Given the description of an element on the screen output the (x, y) to click on. 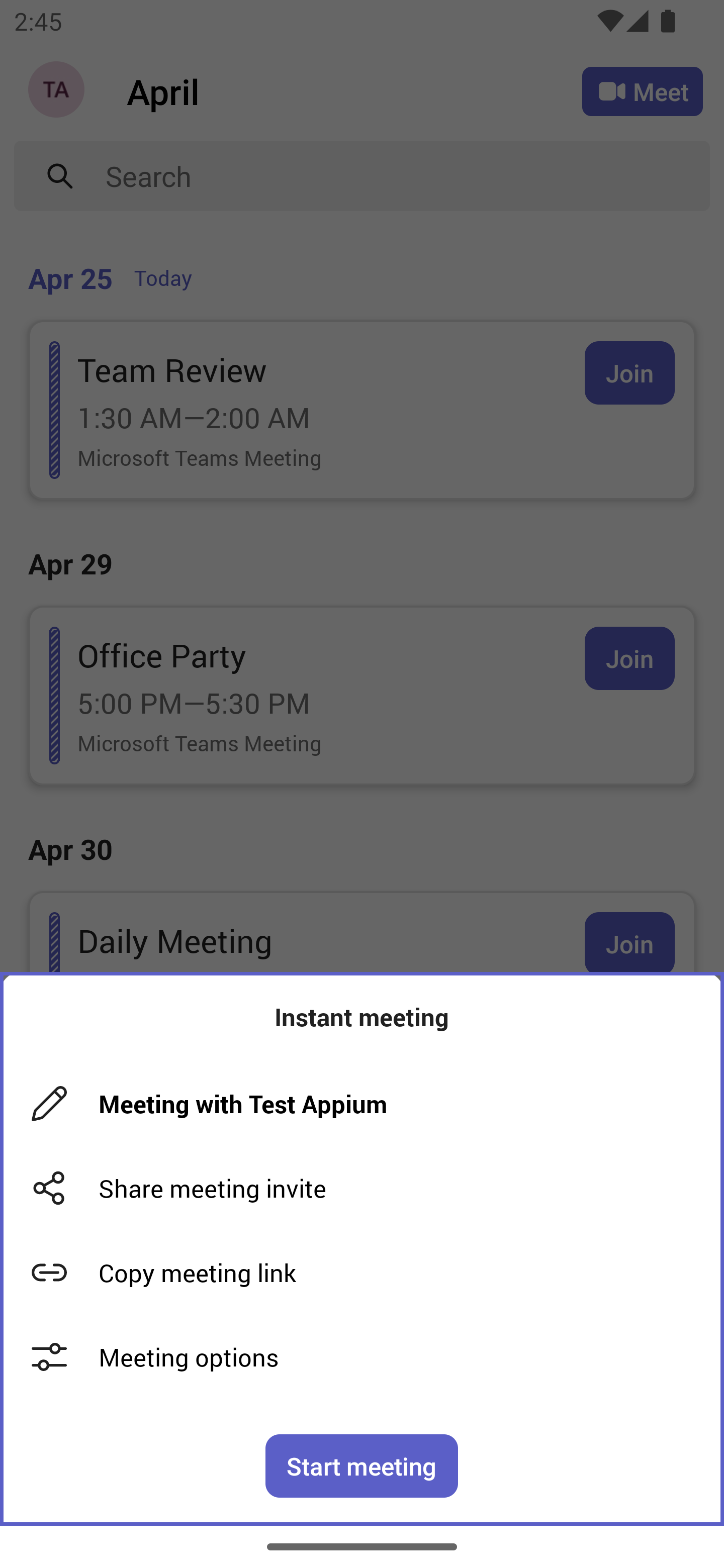
Meeting with Test Appium (368, 1103)
Share meeting invite (362, 1188)
Copy meeting link (362, 1271)
Meeting options (362, 1355)
Start meeting (361, 1465)
